Given the description of an element on the screen output the (x, y) to click on. 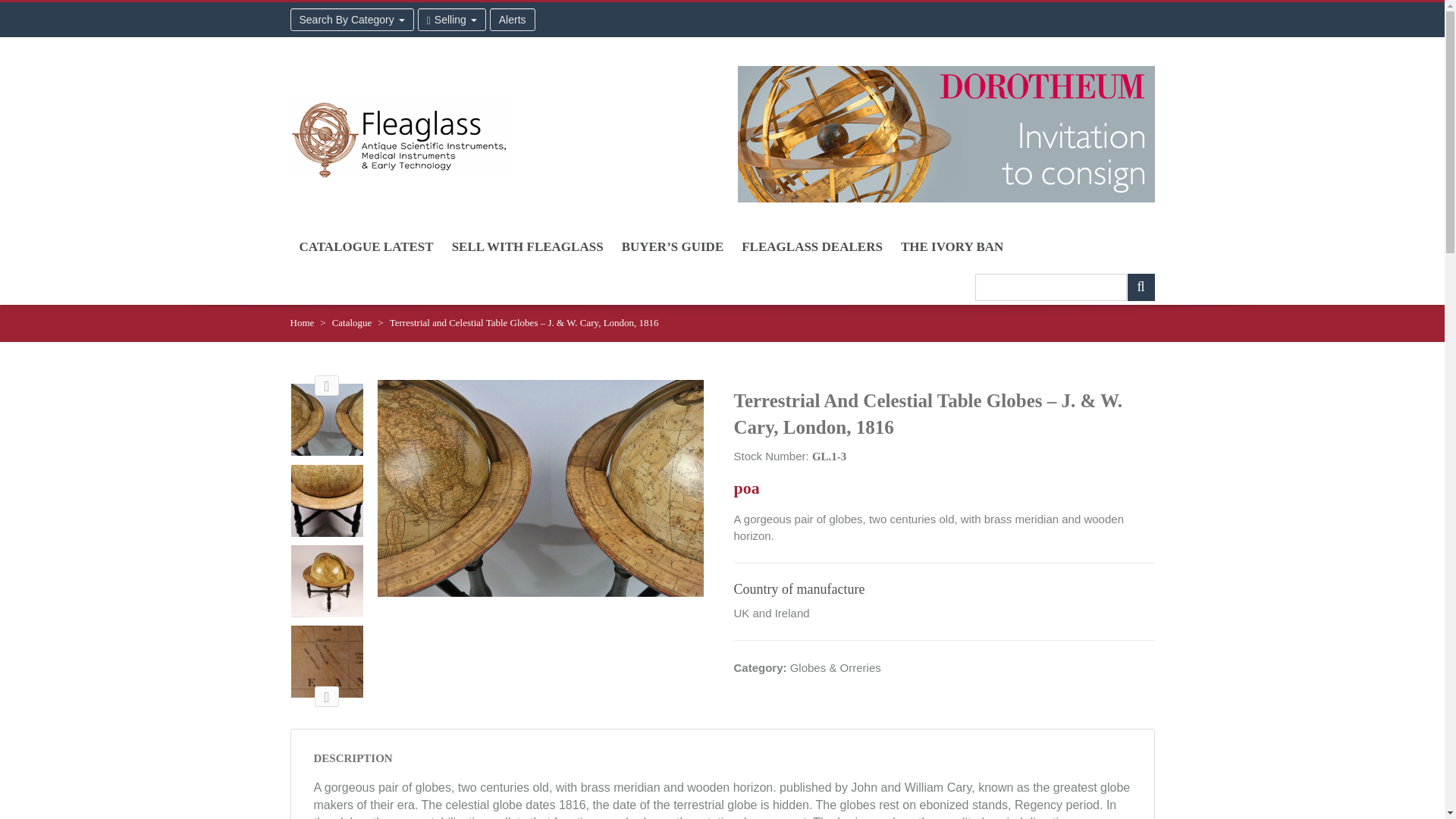
CATALOGUE LATEST (365, 246)
Alerts (512, 19)
FLEAGLASS DEALERS (811, 246)
SELL WITH FLEAGLASS (527, 246)
Search By Category (351, 19)
Search By Category (351, 19)
Selling (451, 19)
Selling (451, 19)
THE IVORY BAN (951, 246)
